Given the description of an element on the screen output the (x, y) to click on. 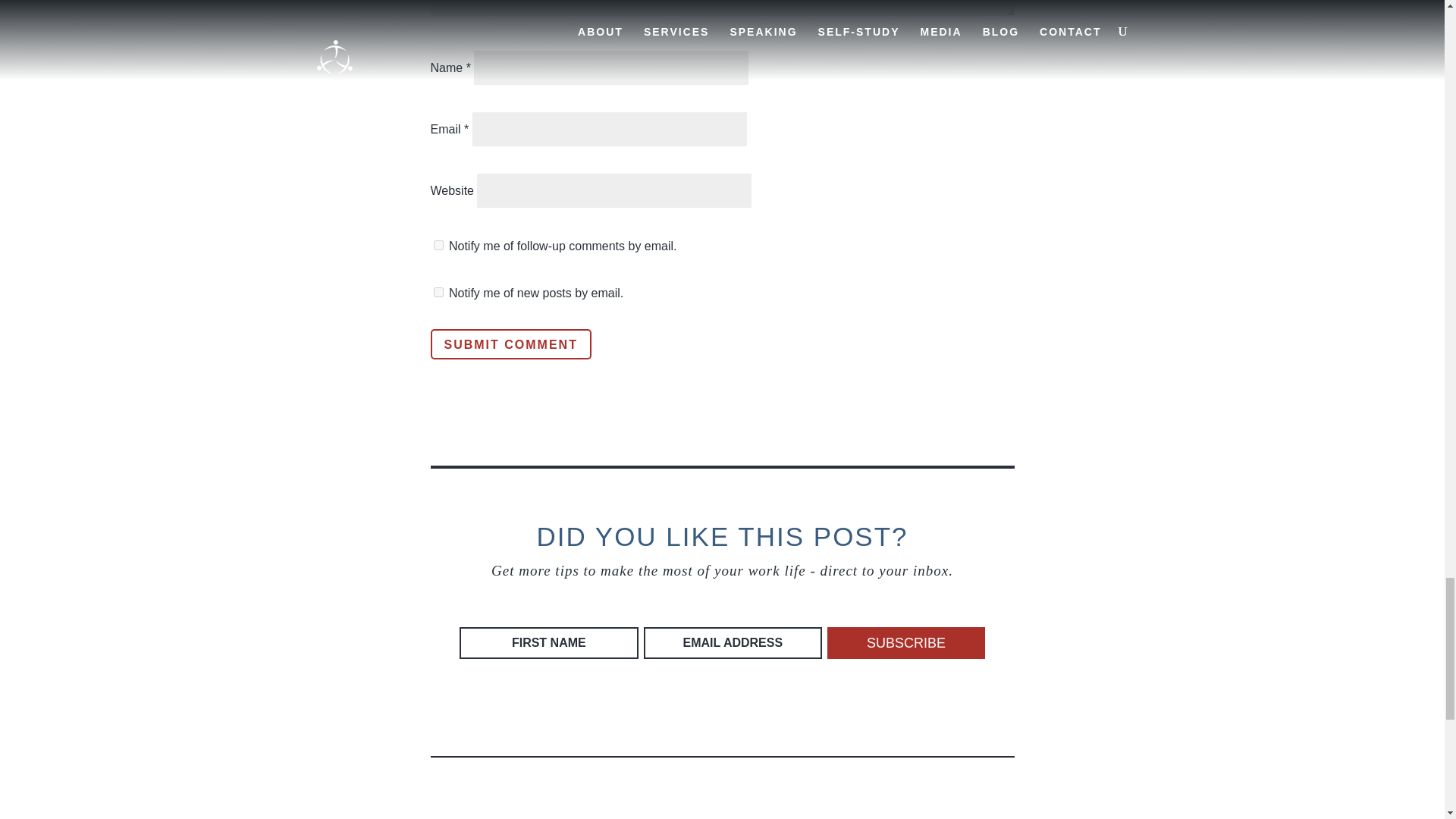
SUBSCRIBE (906, 643)
Submit Comment (510, 344)
subscribe (438, 245)
Submit Comment (510, 344)
subscribe (438, 292)
